Given the description of an element on the screen output the (x, y) to click on. 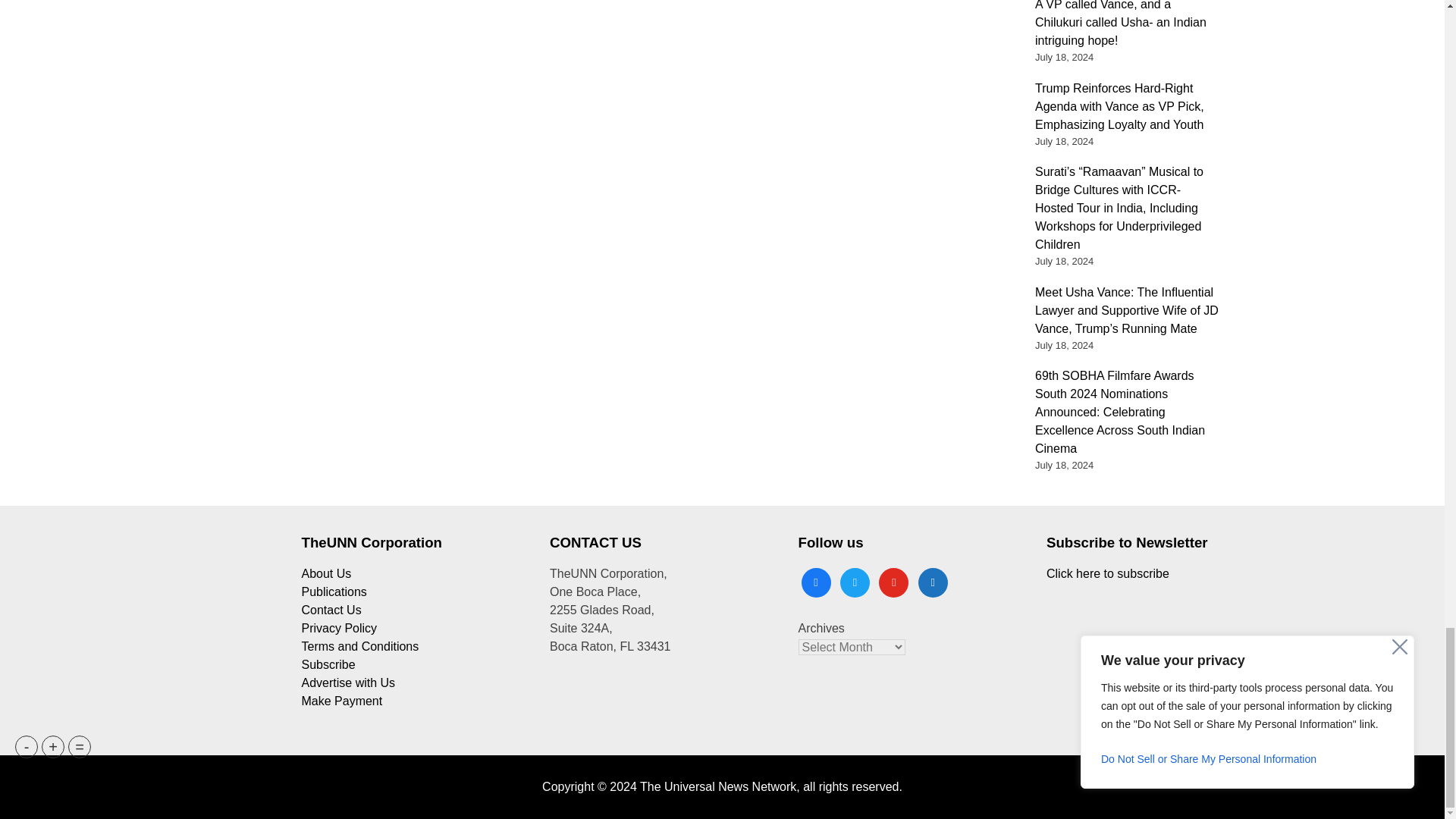
Twitter (854, 581)
Default Label (893, 581)
Facebook (814, 581)
Default Label (932, 581)
